Given the description of an element on the screen output the (x, y) to click on. 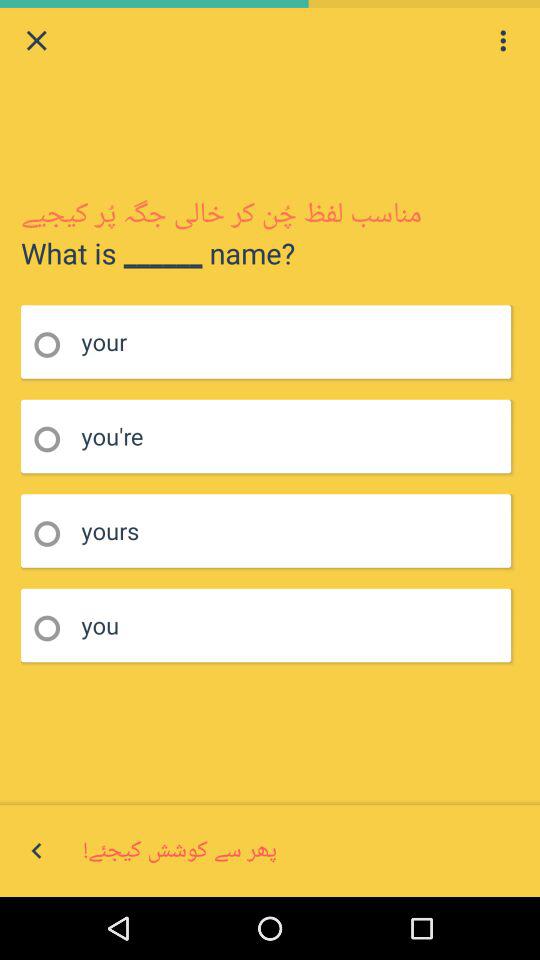
click to close tab (36, 40)
